Given the description of an element on the screen output the (x, y) to click on. 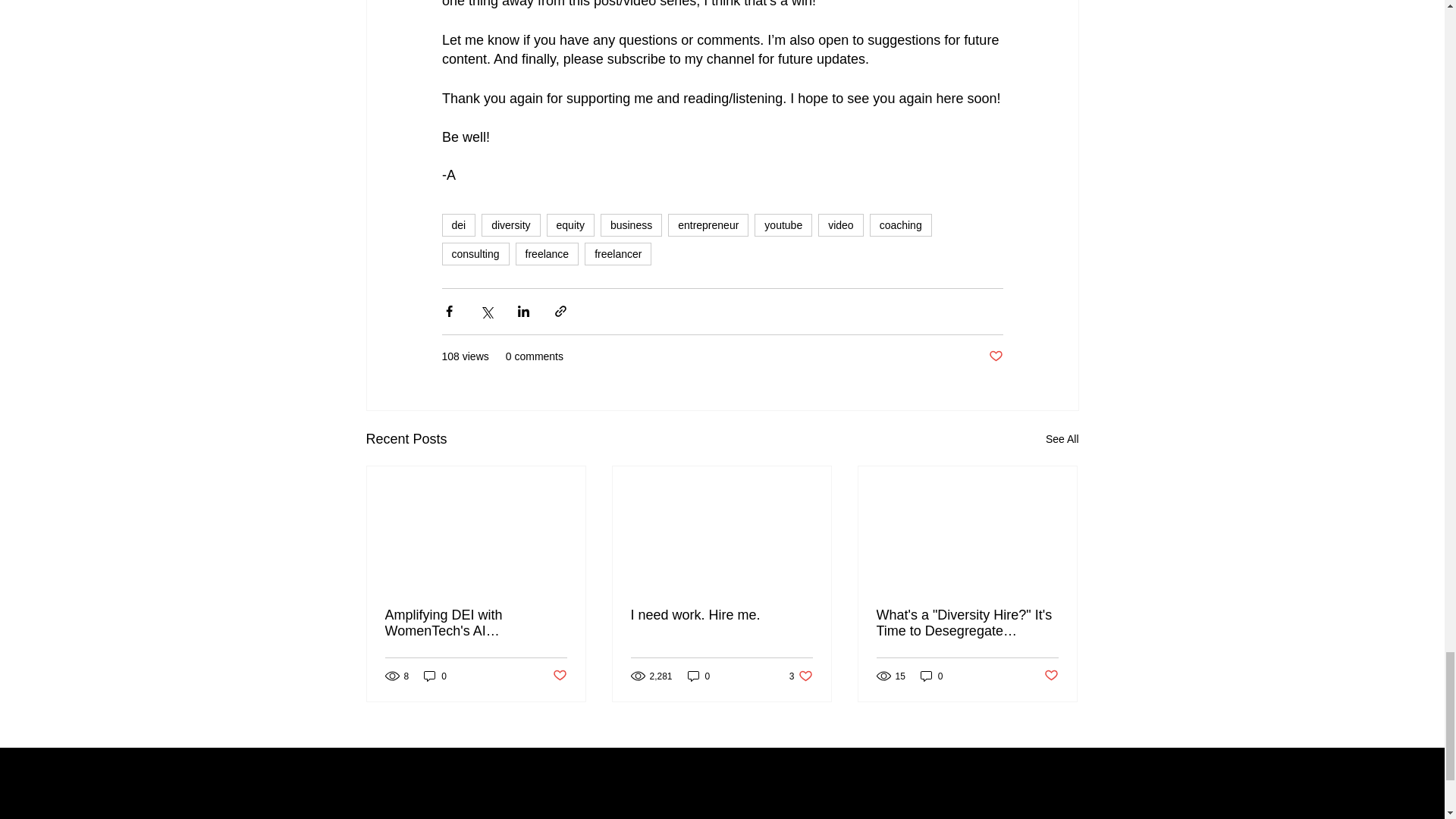
coaching (900, 224)
Post not marked as liked (995, 356)
dei (458, 224)
0 (435, 676)
0 (931, 676)
youtube (783, 224)
See All (1061, 438)
business (630, 224)
equity (570, 224)
0 (698, 676)
consulting (474, 253)
Post not marked as liked (558, 675)
I need work. Hire me. (721, 614)
freelancer (617, 253)
